Given the description of an element on the screen output the (x, y) to click on. 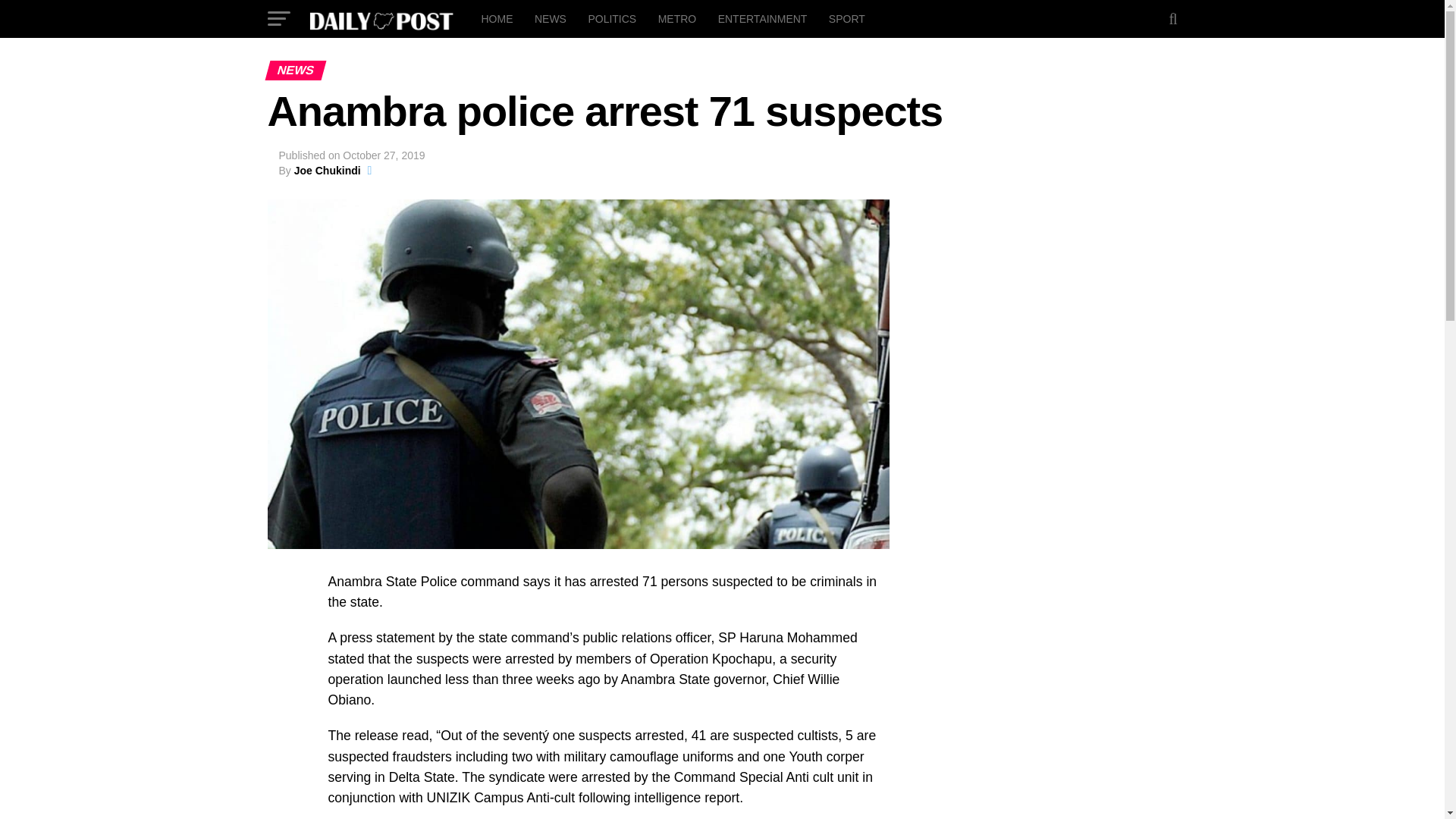
Posts by Joe Chukindi (327, 170)
METRO (677, 18)
NEWS (550, 18)
Joe Chukindi (327, 170)
POLITICS (611, 18)
SPORT (847, 18)
HOME (496, 18)
ENTERTAINMENT (762, 18)
